Given the description of an element on the screen output the (x, y) to click on. 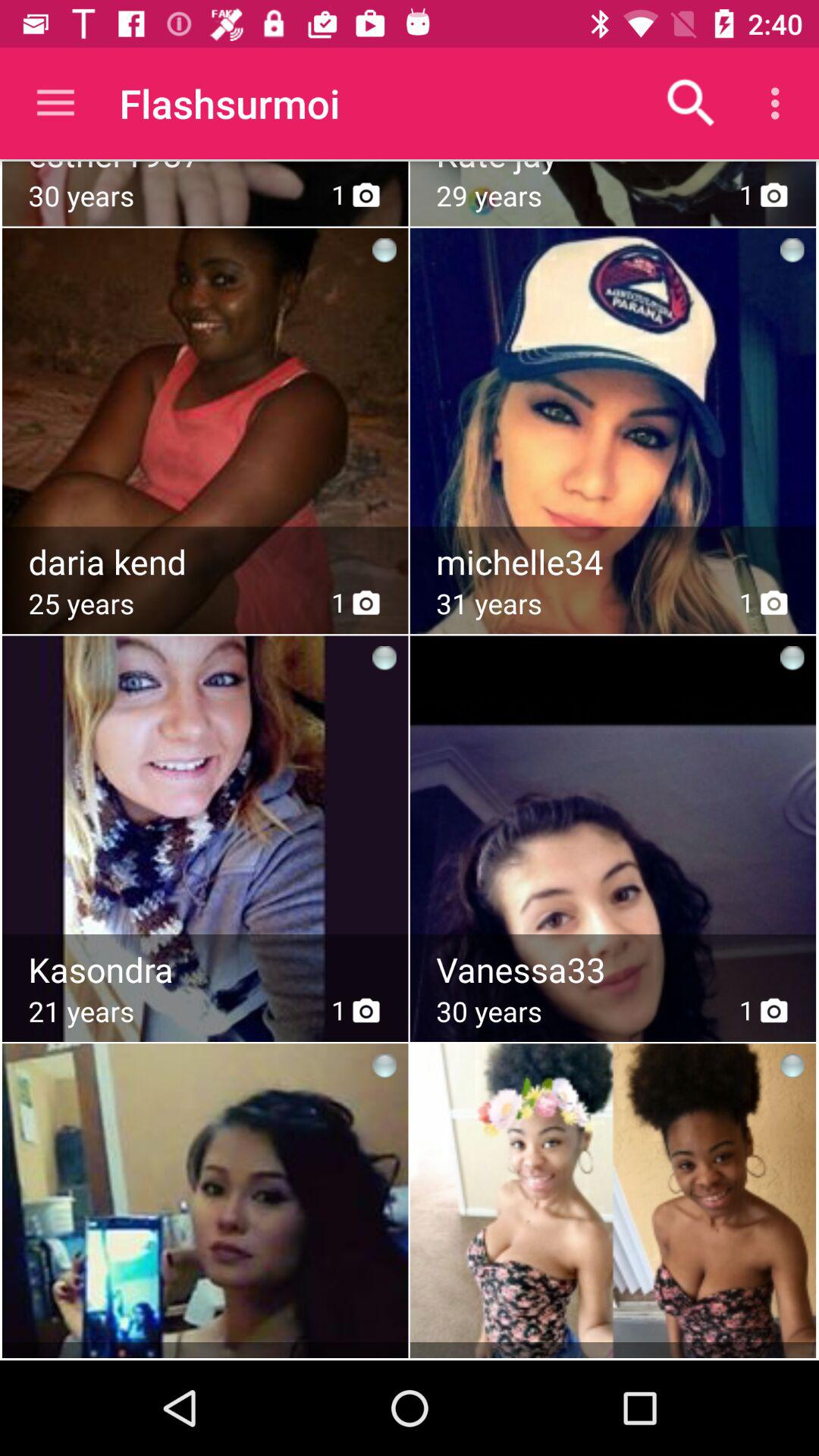
view profile (614, 562)
